Given the description of an element on the screen output the (x, y) to click on. 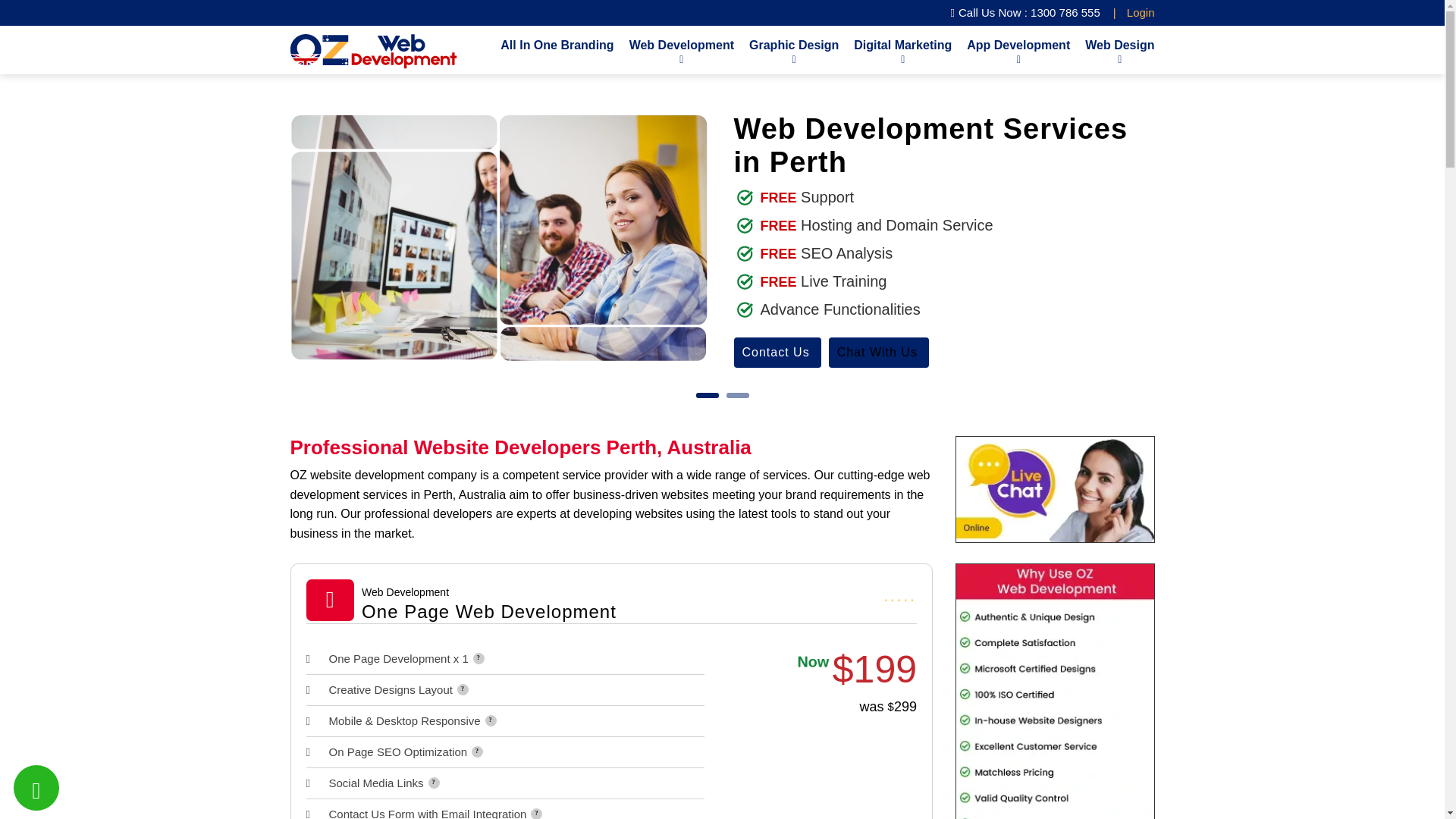
Login (1140, 11)
Graphic Design (793, 49)
All In One Branding (556, 44)
Web Development (680, 49)
Call Us Now : 1300 786 555 (1025, 13)
